Given the description of an element on the screen output the (x, y) to click on. 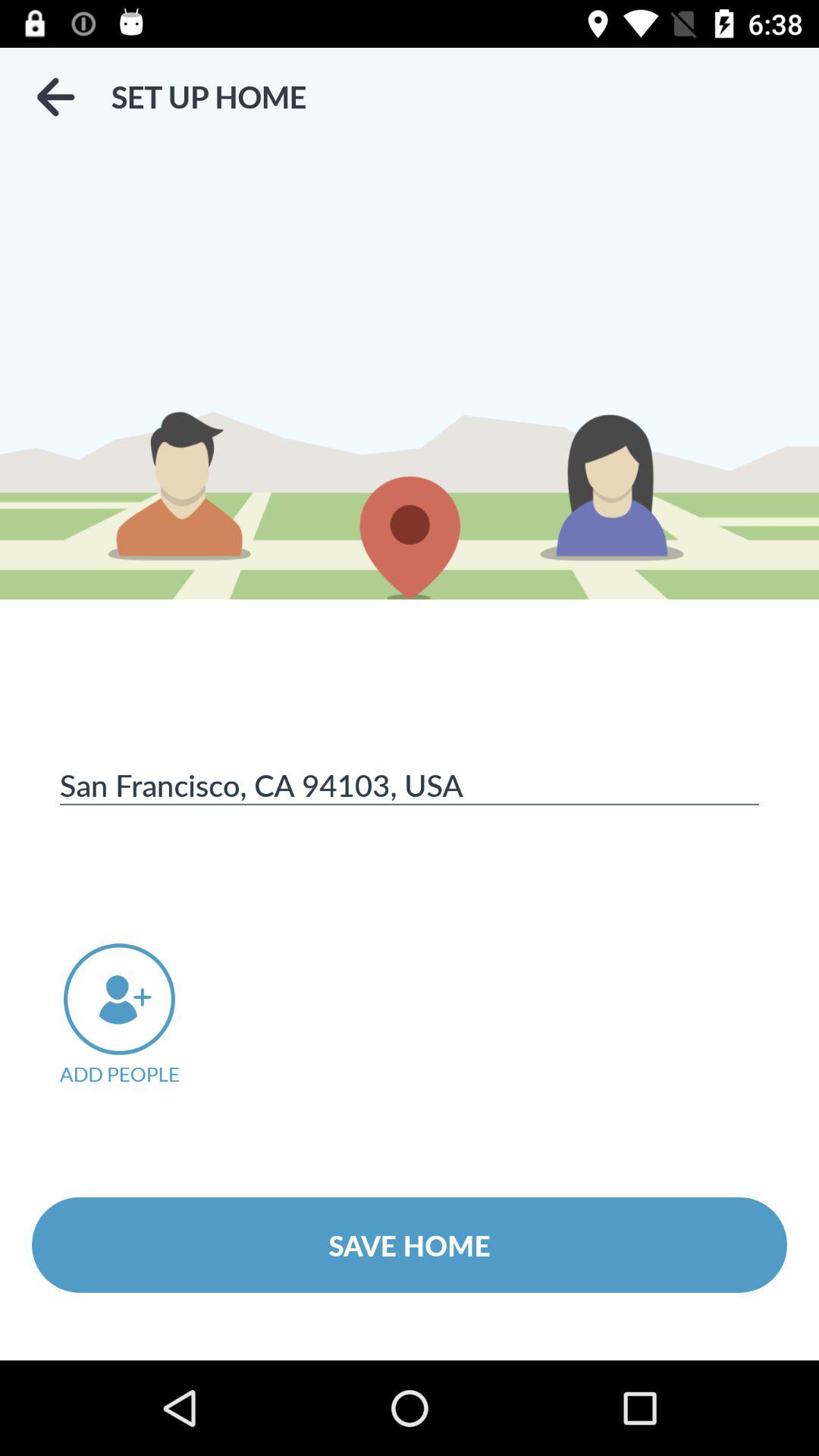
turn on san francisco ca item (409, 784)
